Given the description of an element on the screen output the (x, y) to click on. 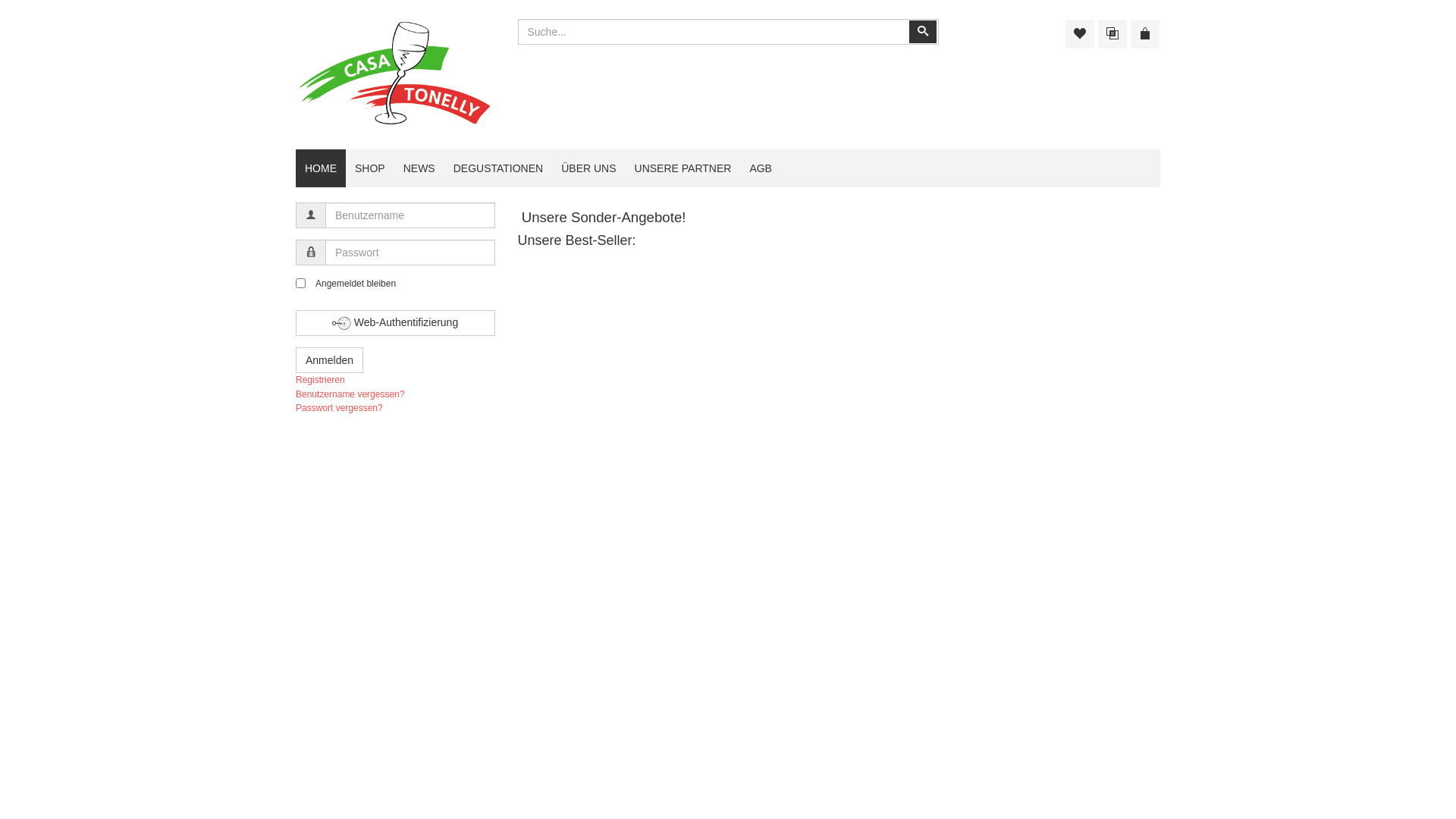
Benutzername Element type: hover (310, 215)
Passwort vergessen? Element type: text (338, 407)
Passwort Element type: hover (310, 252)
AGB Element type: text (760, 168)
NEWS Element type: text (419, 168)
Registrieren Element type: text (320, 379)
Benutzername vergessen? Element type: text (349, 394)
Suchen Element type: text (921, 31)
HOME Element type: text (320, 168)
DEGUSTATIONEN Element type: text (498, 168)
SHOP Element type: text (369, 168)
Web-Authentifizierung Element type: text (395, 323)
Anmelden Element type: text (329, 360)
UNSERE PARTNER Element type: text (682, 168)
